Given the description of an element on the screen output the (x, y) to click on. 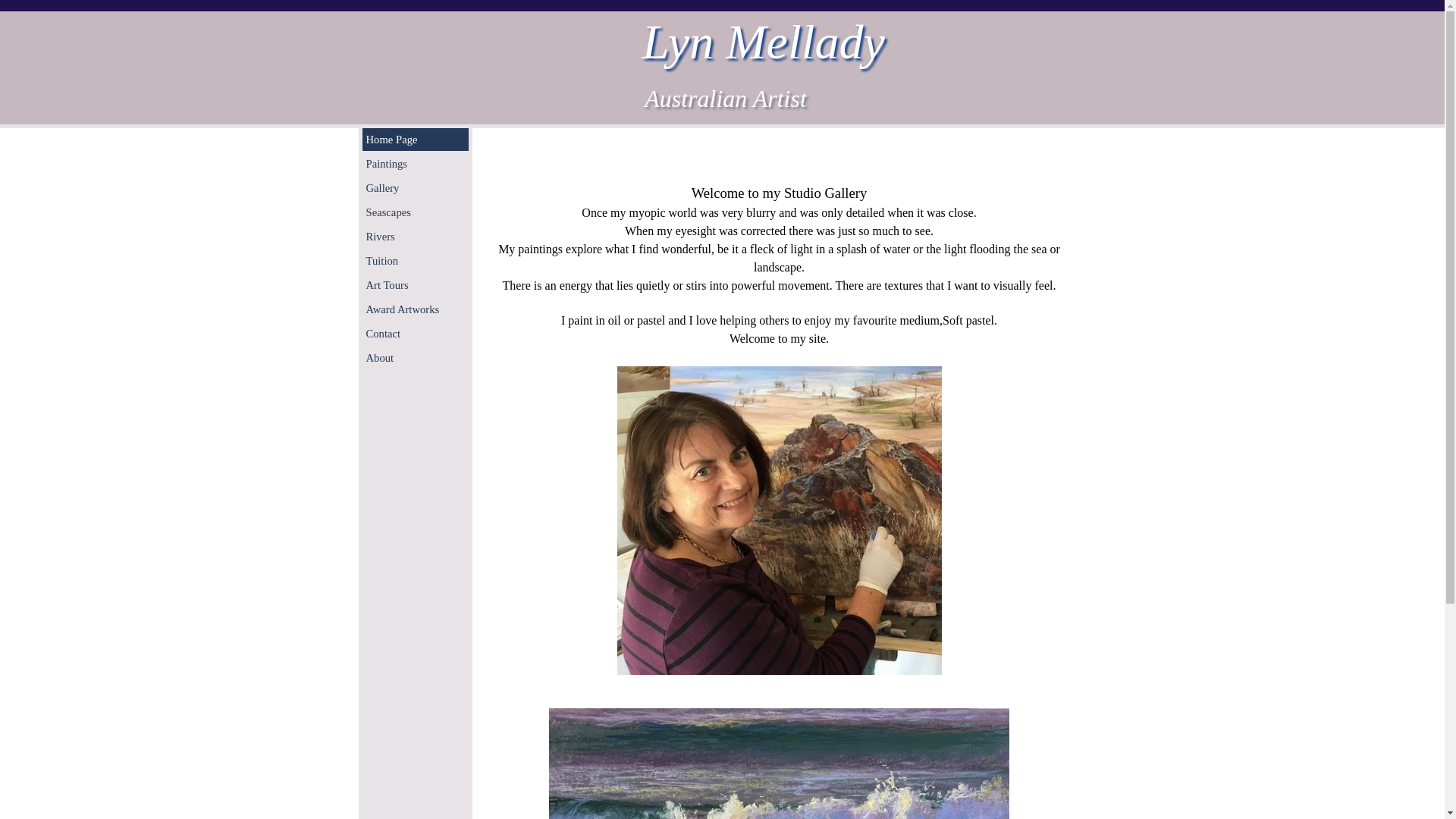
Seascapes Element type: text (414, 211)
Home Page Element type: text (414, 139)
Art Tours Element type: text (414, 284)
About Element type: text (414, 357)
Tuition Element type: text (414, 260)
Award Artworks Element type: text (414, 309)
Paintings Element type: text (414, 163)
Rivers Element type: text (414, 236)
Contact Element type: text (414, 333)
Gallery Element type: text (414, 187)
